Given the description of an element on the screen output the (x, y) to click on. 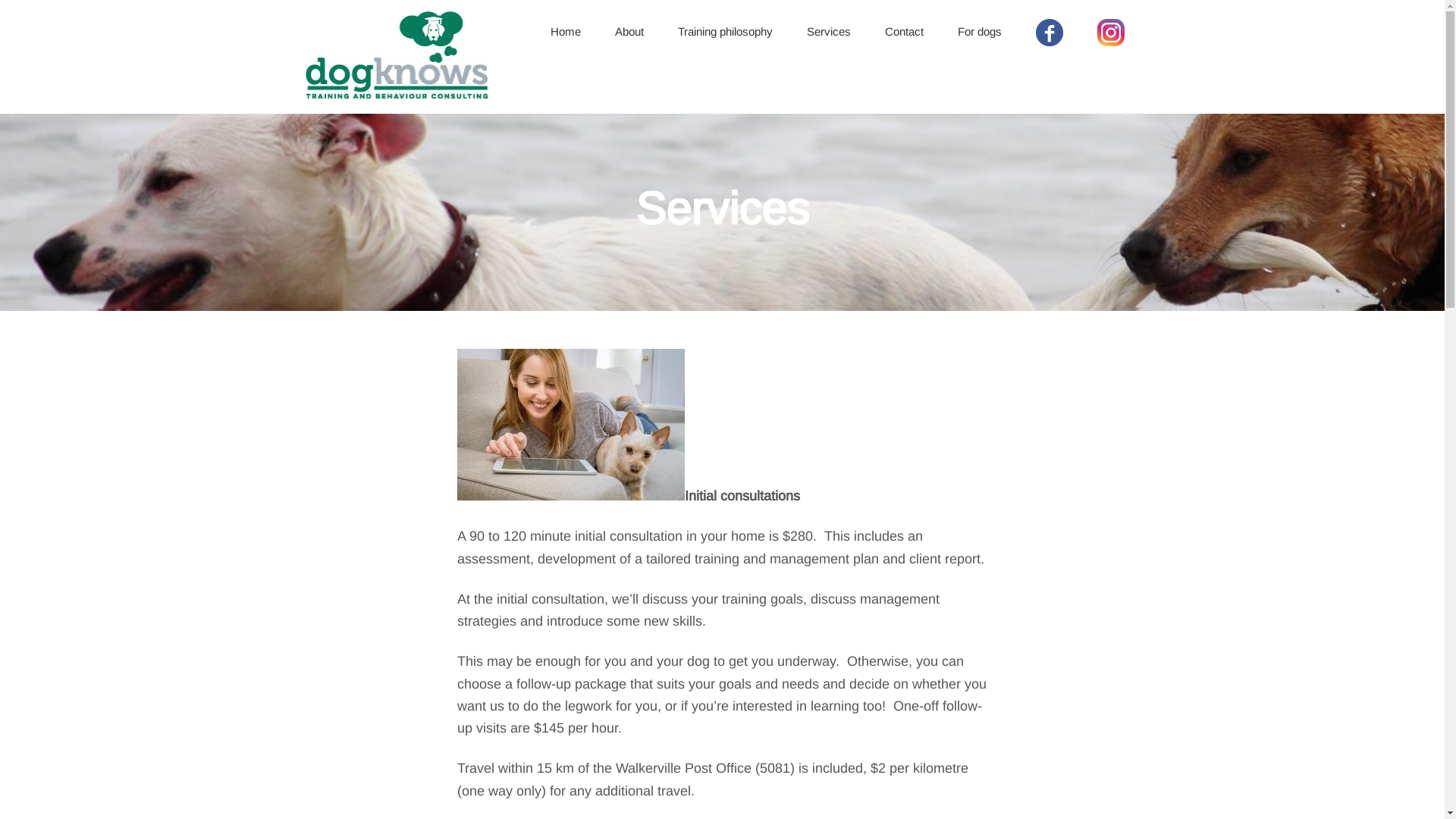
Dog Knows Element type: hover (395, 88)
Home Element type: text (565, 31)
Services Element type: text (828, 31)
For dogs Element type: text (979, 31)
Contact Element type: text (903, 31)
About Element type: text (628, 31)
Training philosophy Element type: text (724, 31)
